Given the description of an element on the screen output the (x, y) to click on. 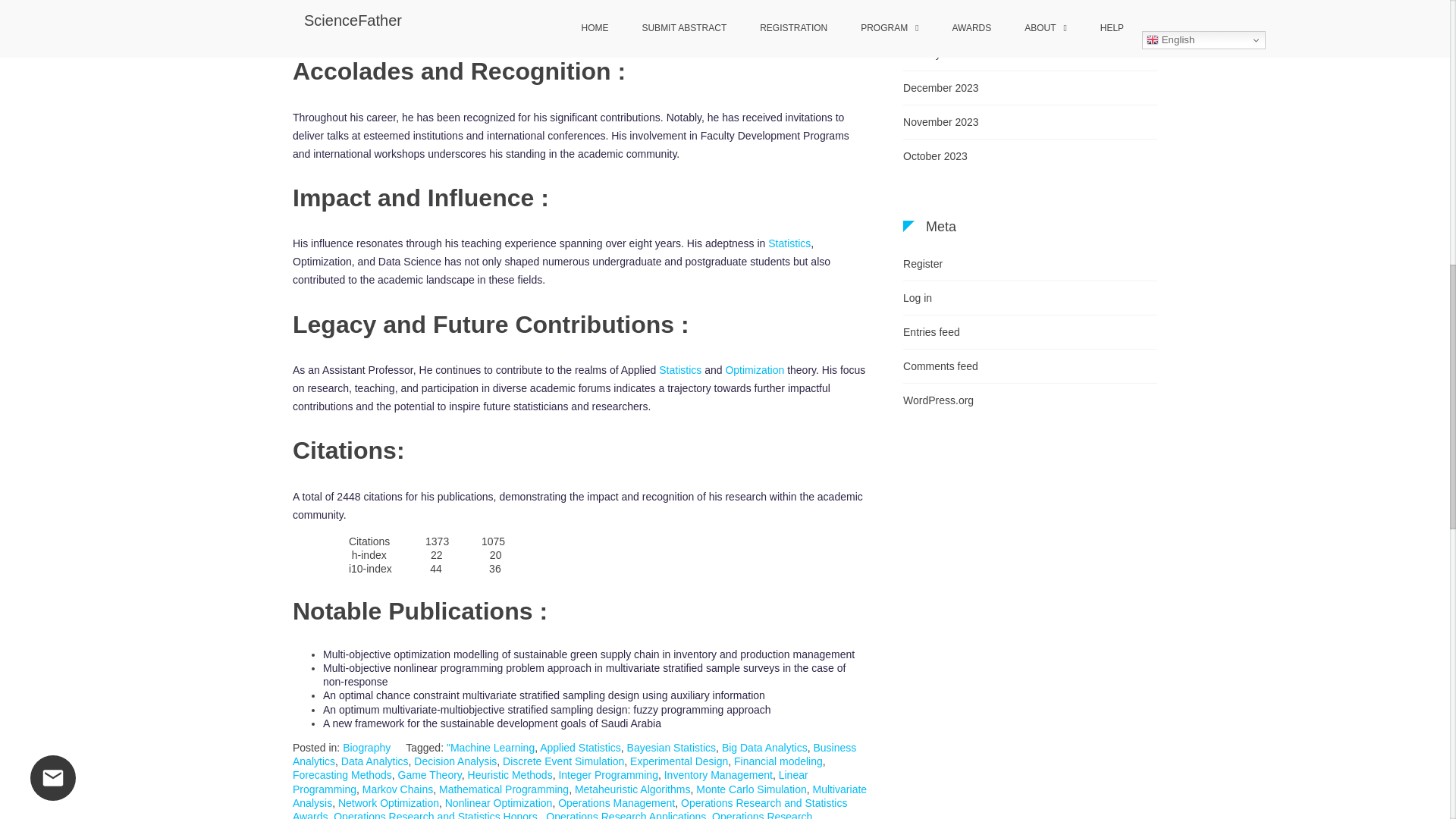
Statistics (789, 243)
